Given the description of an element on the screen output the (x, y) to click on. 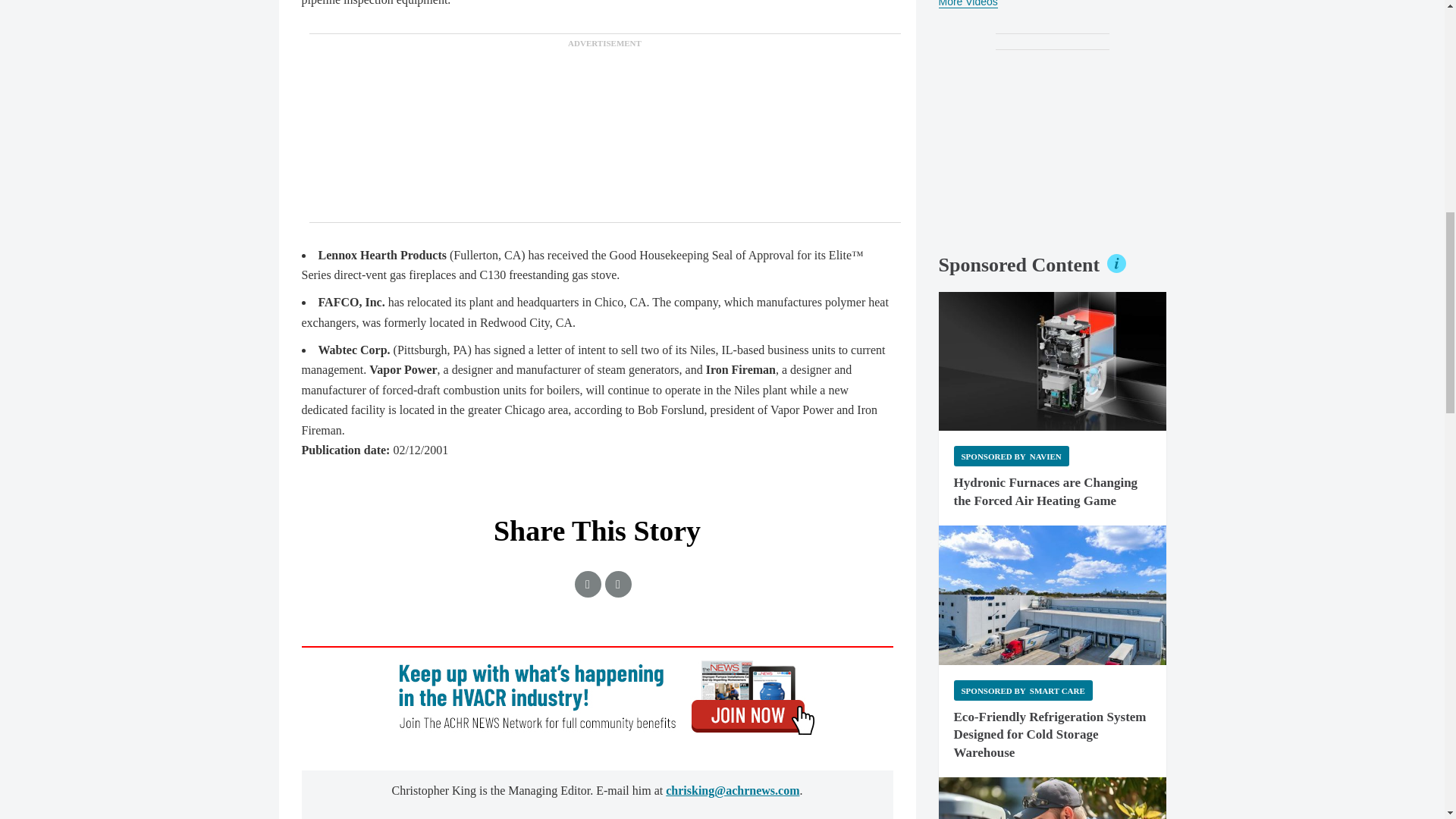
Sponsored by Smart Care (1023, 690)
Sponsored by Navien (1010, 455)
Texas Frio Cold Storage (1052, 595)
Technician Working on HVAC Unit (1052, 798)
Hydronic Forced Air Furnace Diagram (1052, 361)
